Given the description of an element on the screen output the (x, y) to click on. 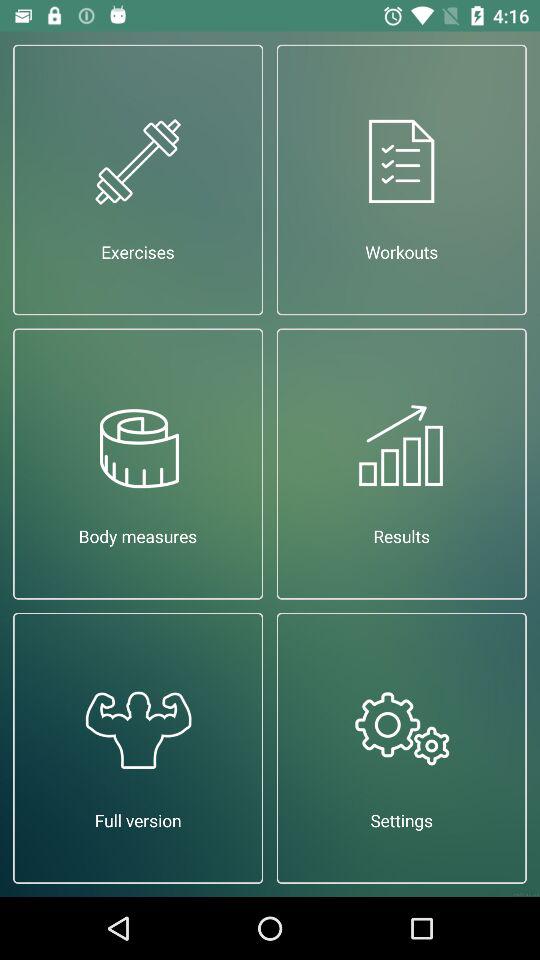
press exercises at the top left corner (137, 179)
